Given the description of an element on the screen output the (x, y) to click on. 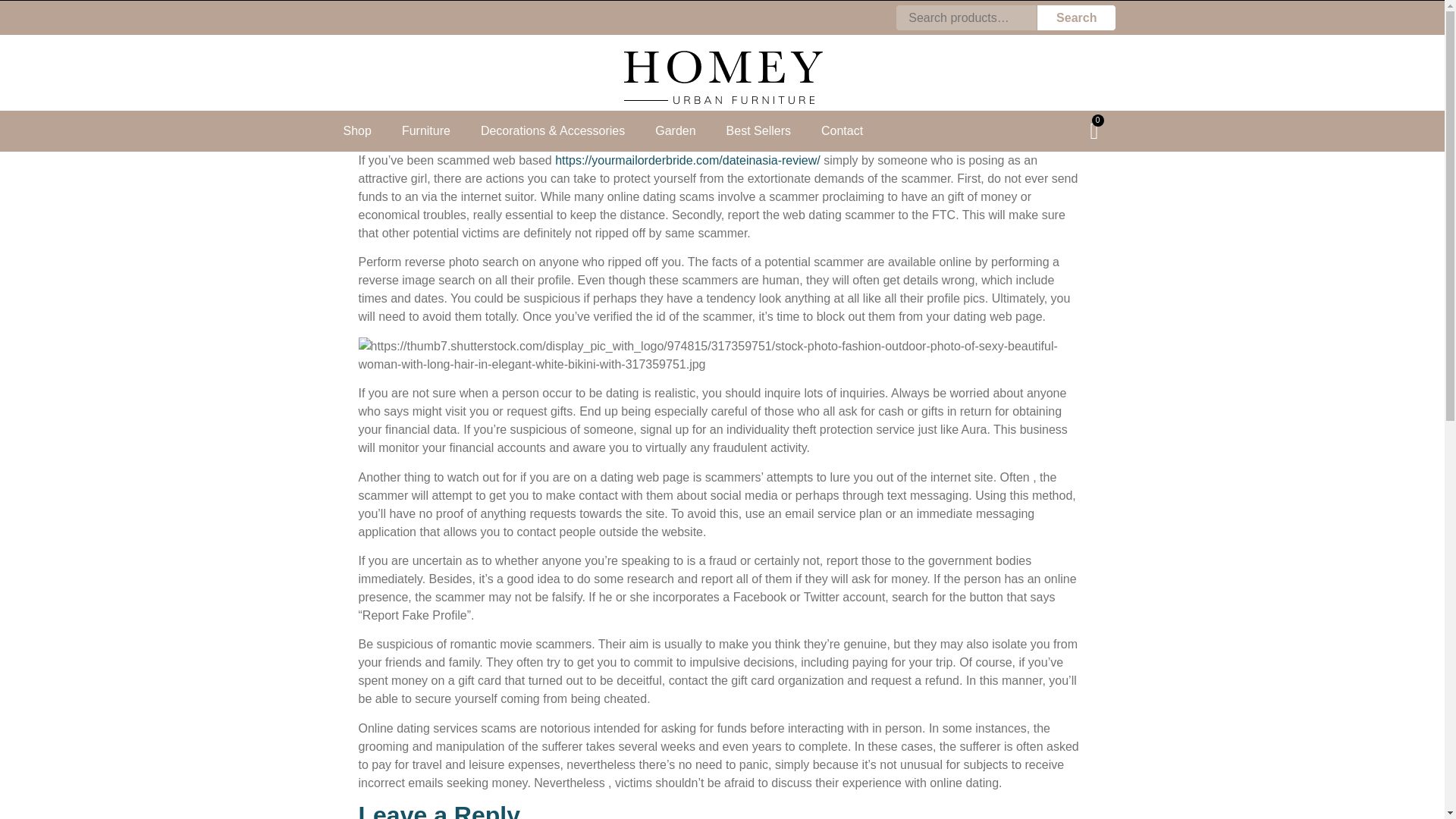
Search (1076, 17)
Best Sellers (758, 130)
Shop (356, 130)
Furniture (426, 130)
Contact (841, 130)
Garden (675, 130)
